Given the description of an element on the screen output the (x, y) to click on. 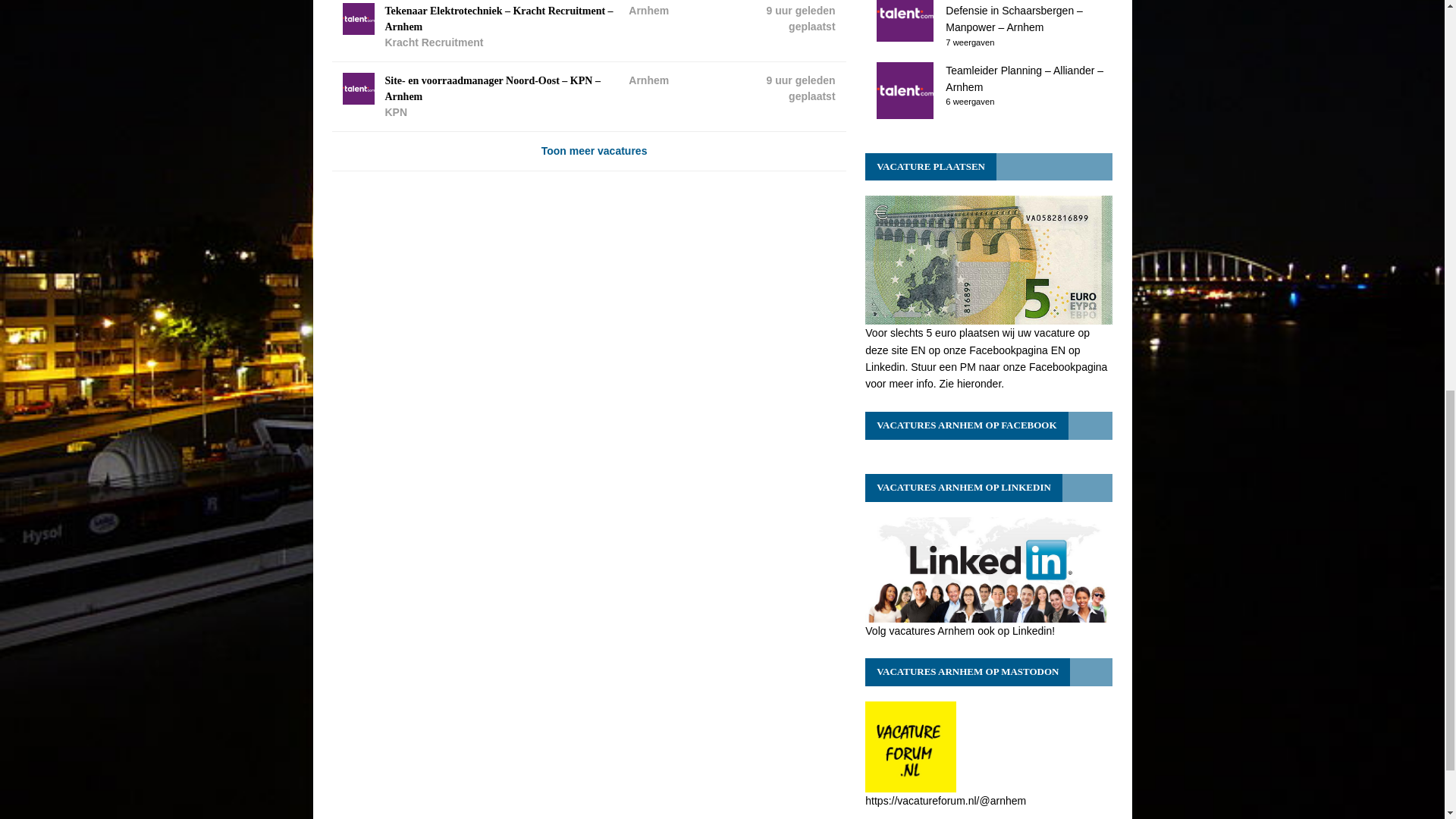
Toon meer vacatures (588, 150)
